Given the description of an element on the screen output the (x, y) to click on. 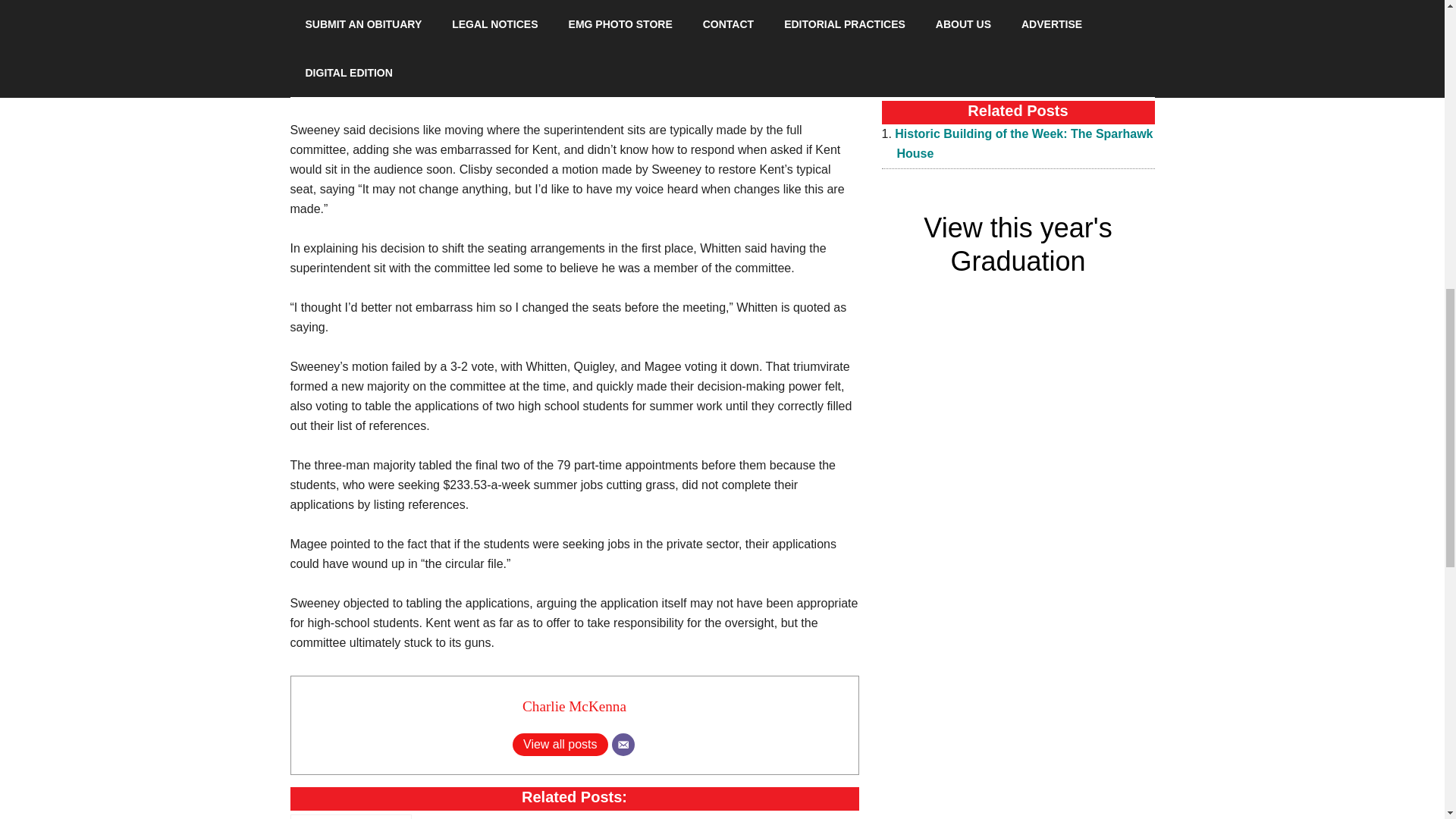
View all posts (560, 744)
Charlie McKenna (574, 706)
Historic Building of the Week: The Sparhawk House (349, 816)
View all posts (560, 744)
Historic Building of the Week: The Sparhawk House (1024, 143)
Historic Building of the Week: The Sparhawk House (1024, 143)
Charlie McKenna (574, 706)
Historic Building of the Week: The Sparhawk House (349, 816)
